Given the description of an element on the screen output the (x, y) to click on. 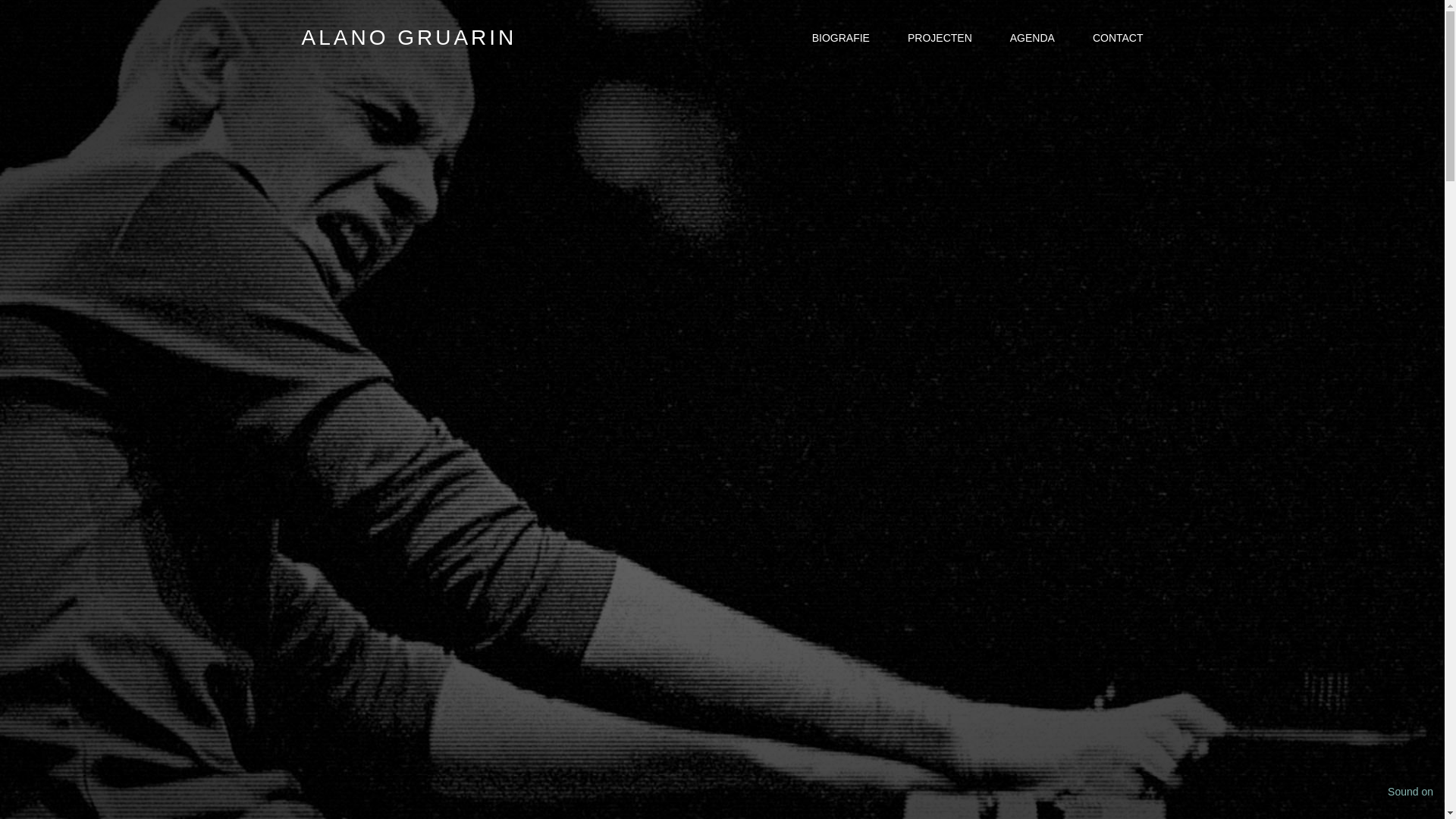
ALANO GRUARIN Element type: text (408, 37)
CONTACT Element type: text (1117, 37)
PROJECTEN Element type: text (939, 37)
AGENDA Element type: text (1032, 37)
Sound on Element type: text (1410, 791)
BIOGRAFIE Element type: text (840, 37)
